Given the description of an element on the screen output the (x, y) to click on. 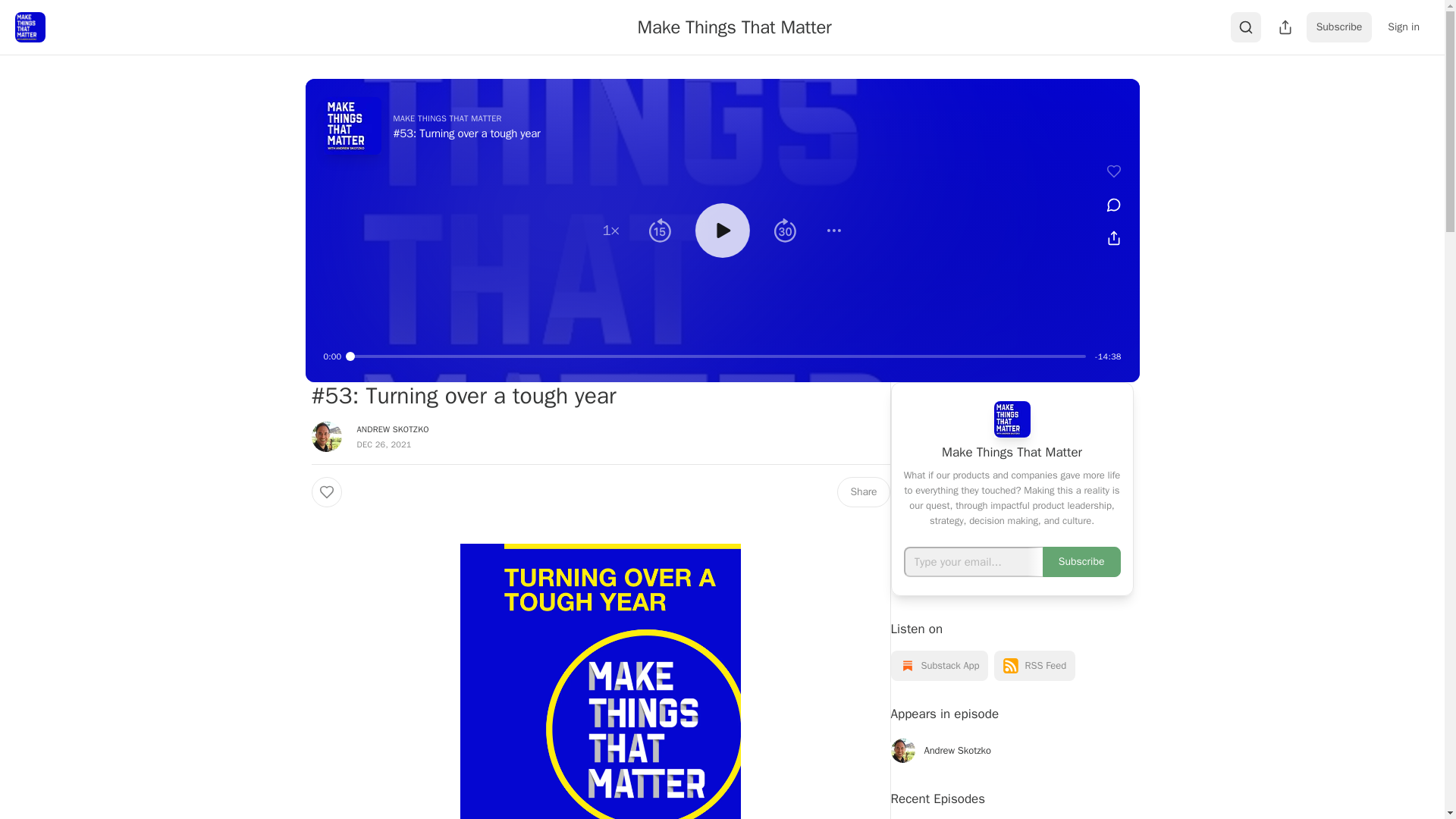
Subscribe (1339, 27)
Make Things That Matter (734, 26)
ANDREW SKOTZKO (392, 429)
Share (863, 491)
Sign in (1403, 27)
